Given the description of an element on the screen output the (x, y) to click on. 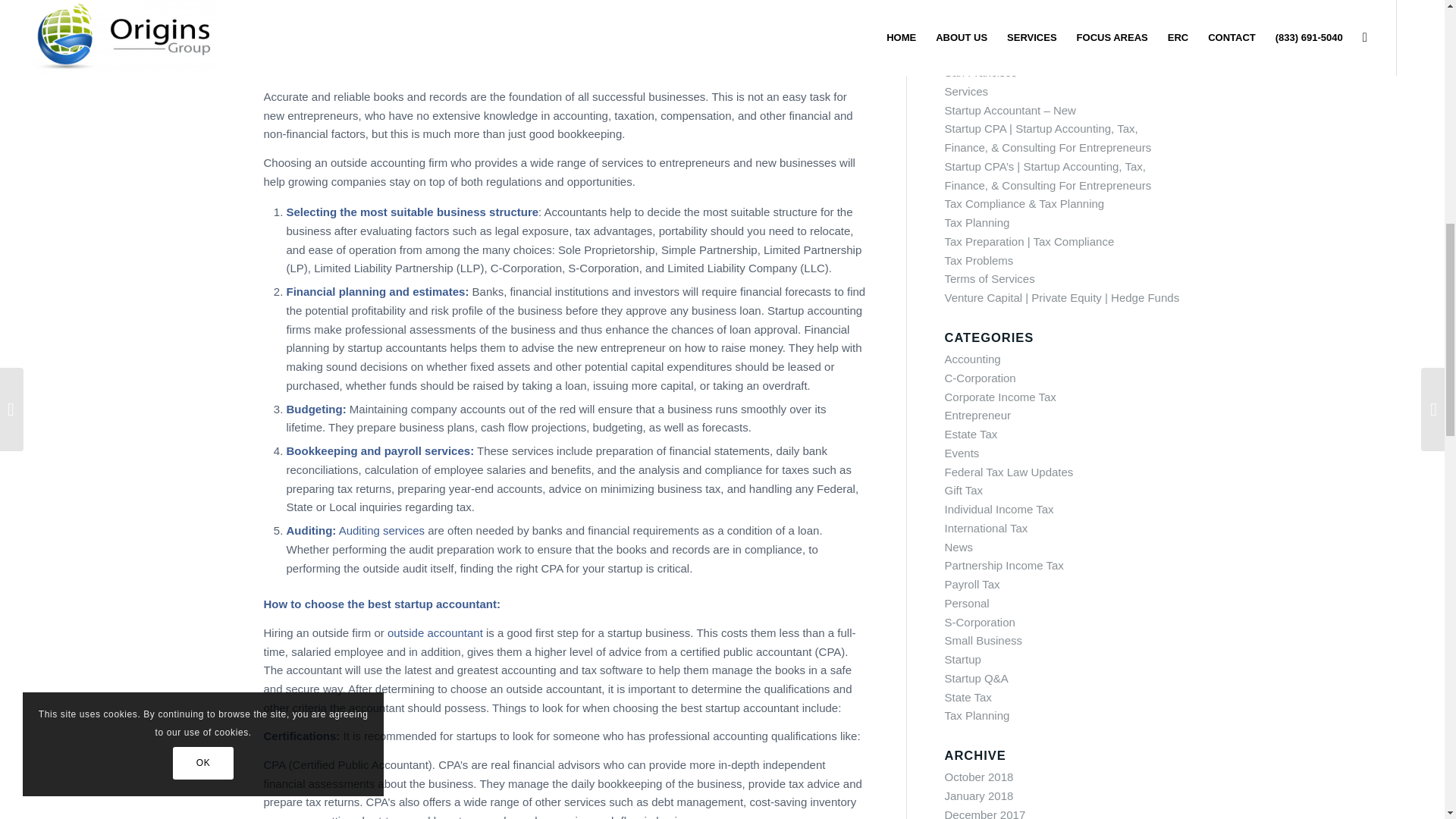
CPA (274, 764)
Bookkeeping (322, 450)
CFO (626, 20)
outside accountant (435, 632)
Startup Accountants (378, 67)
payroll services (427, 450)
Auditing services (383, 530)
